Given the description of an element on the screen output the (x, y) to click on. 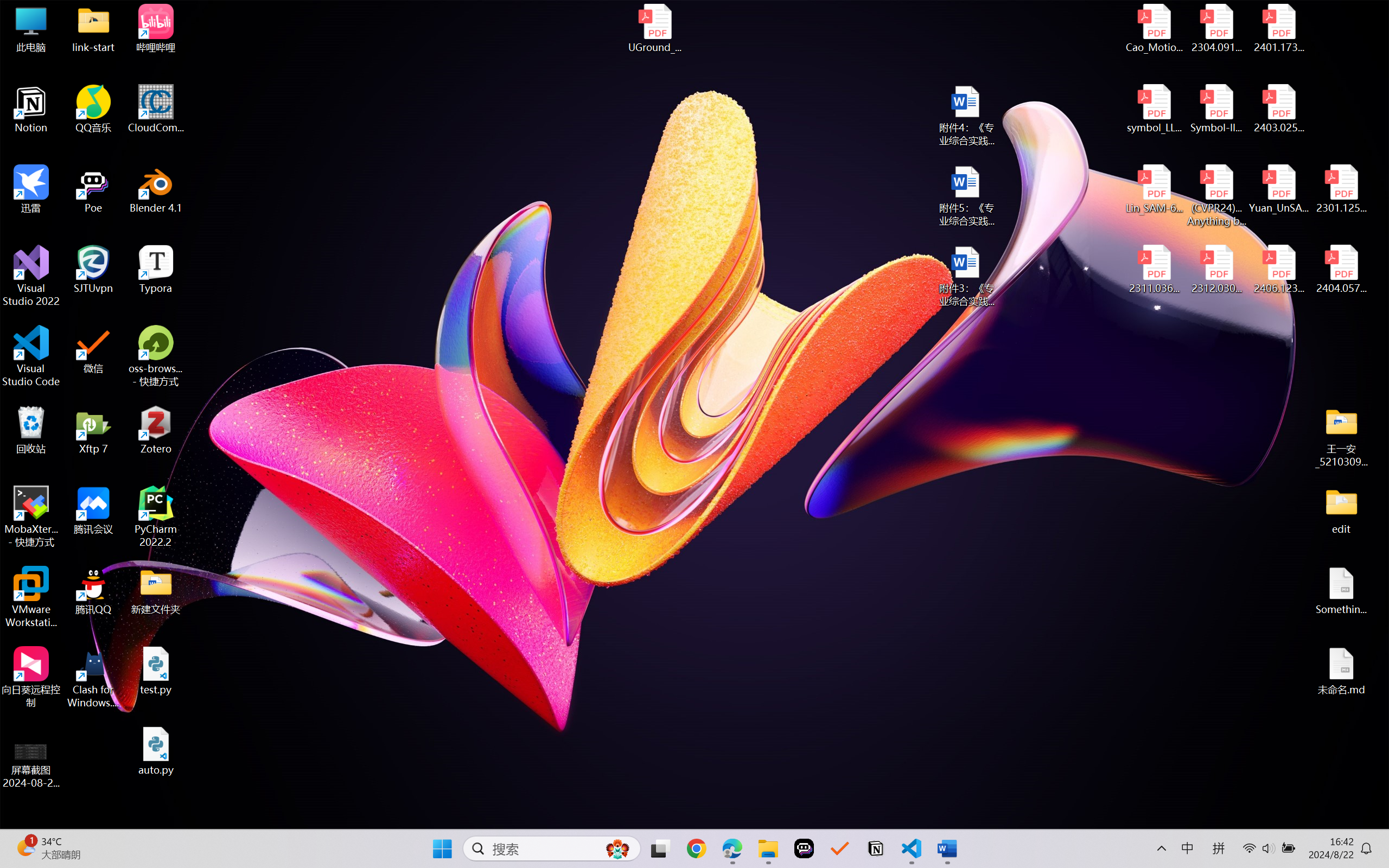
2311.03658v2.pdf (1154, 269)
2406.12373v2.pdf (1278, 269)
2301.12597v3.pdf (1340, 189)
Xftp 7 (93, 430)
UGround_paper.pdf (654, 28)
Something.md (1340, 591)
Visual Studio Code (31, 355)
